Given the description of an element on the screen output the (x, y) to click on. 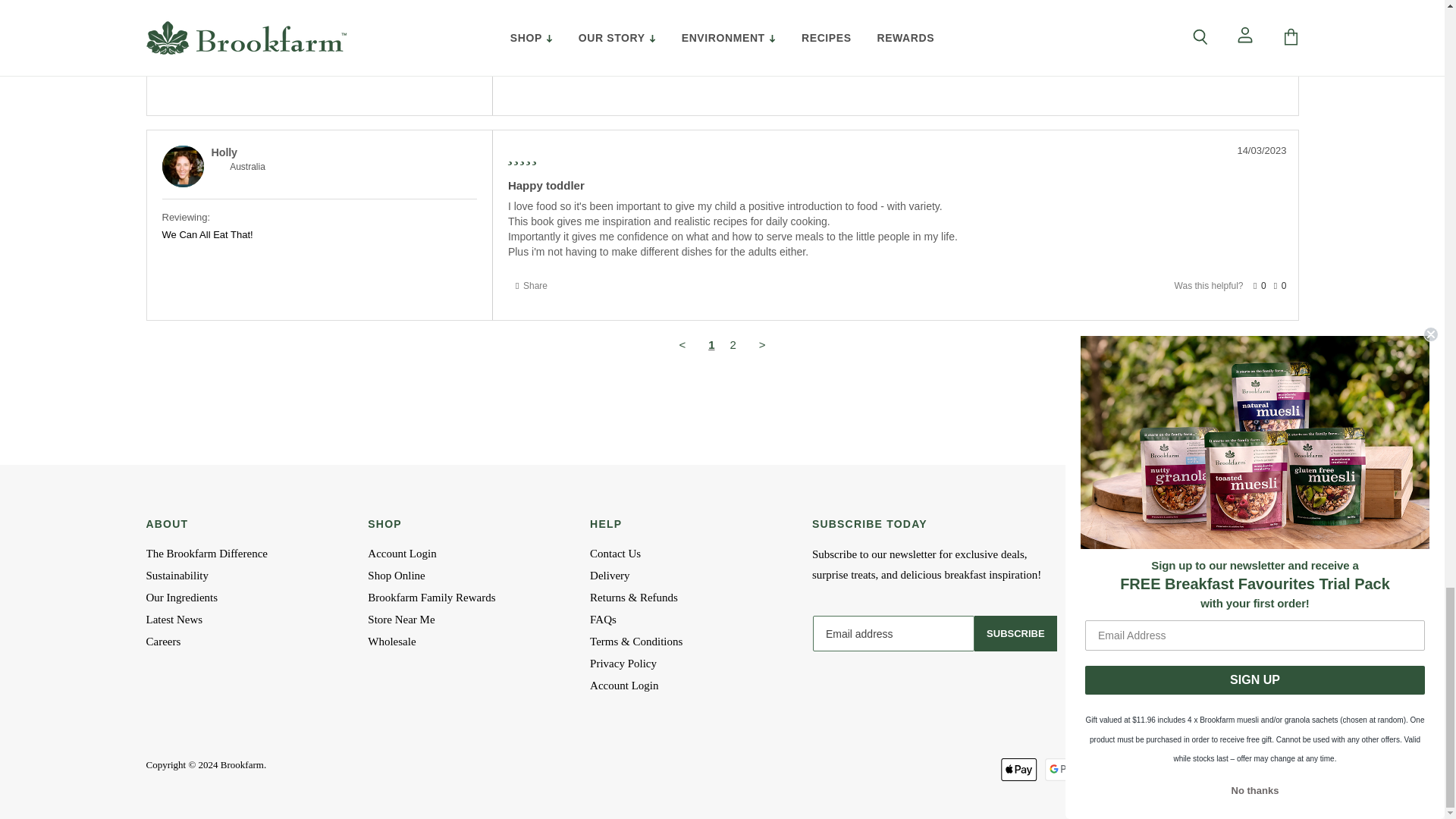
Instagram (1176, 628)
Facebook (1138, 628)
LinkedIn (1252, 628)
Youtube (1214, 628)
